Given the description of an element on the screen output the (x, y) to click on. 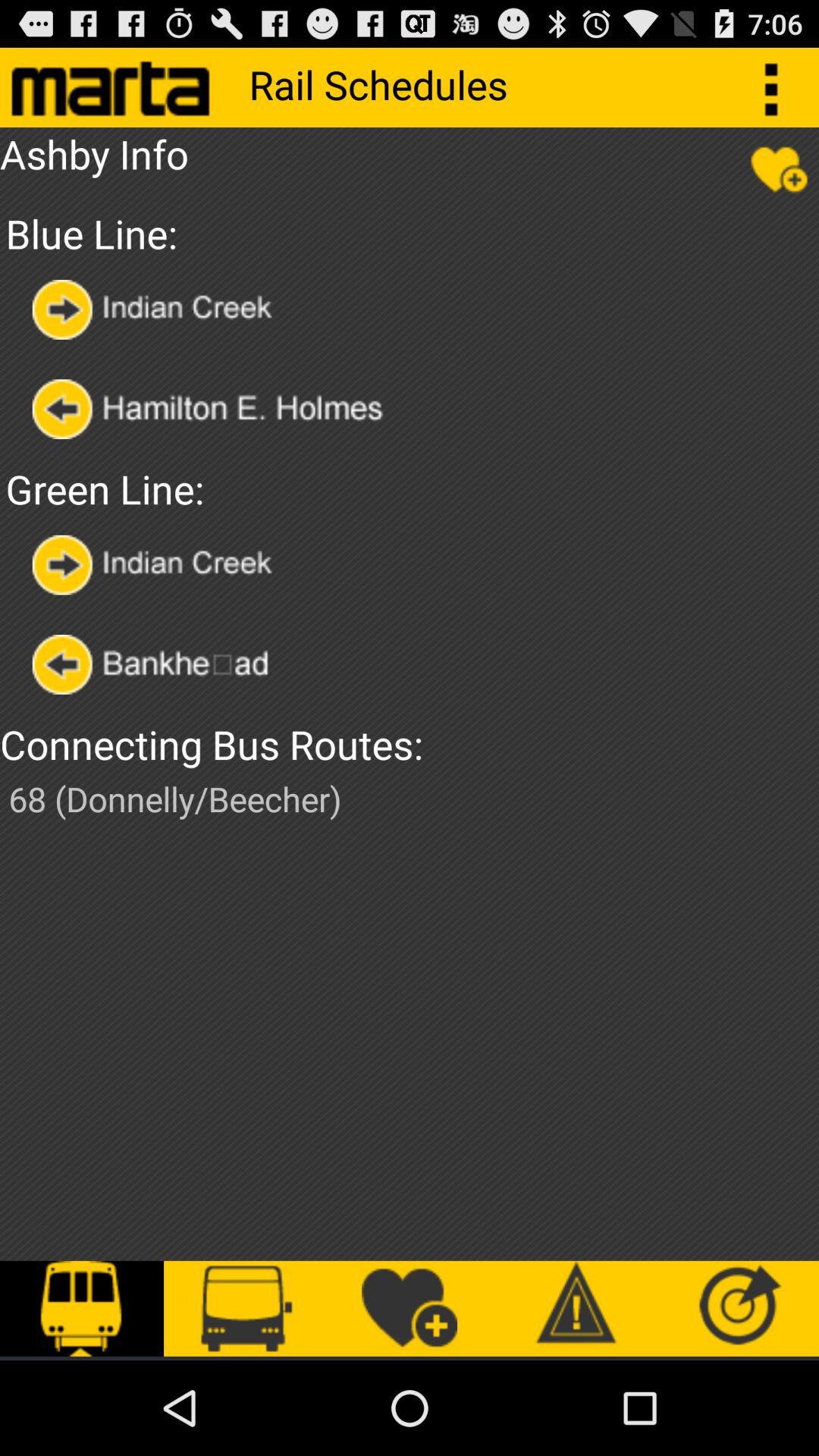
option selector (156, 309)
